Given the description of an element on the screen output the (x, y) to click on. 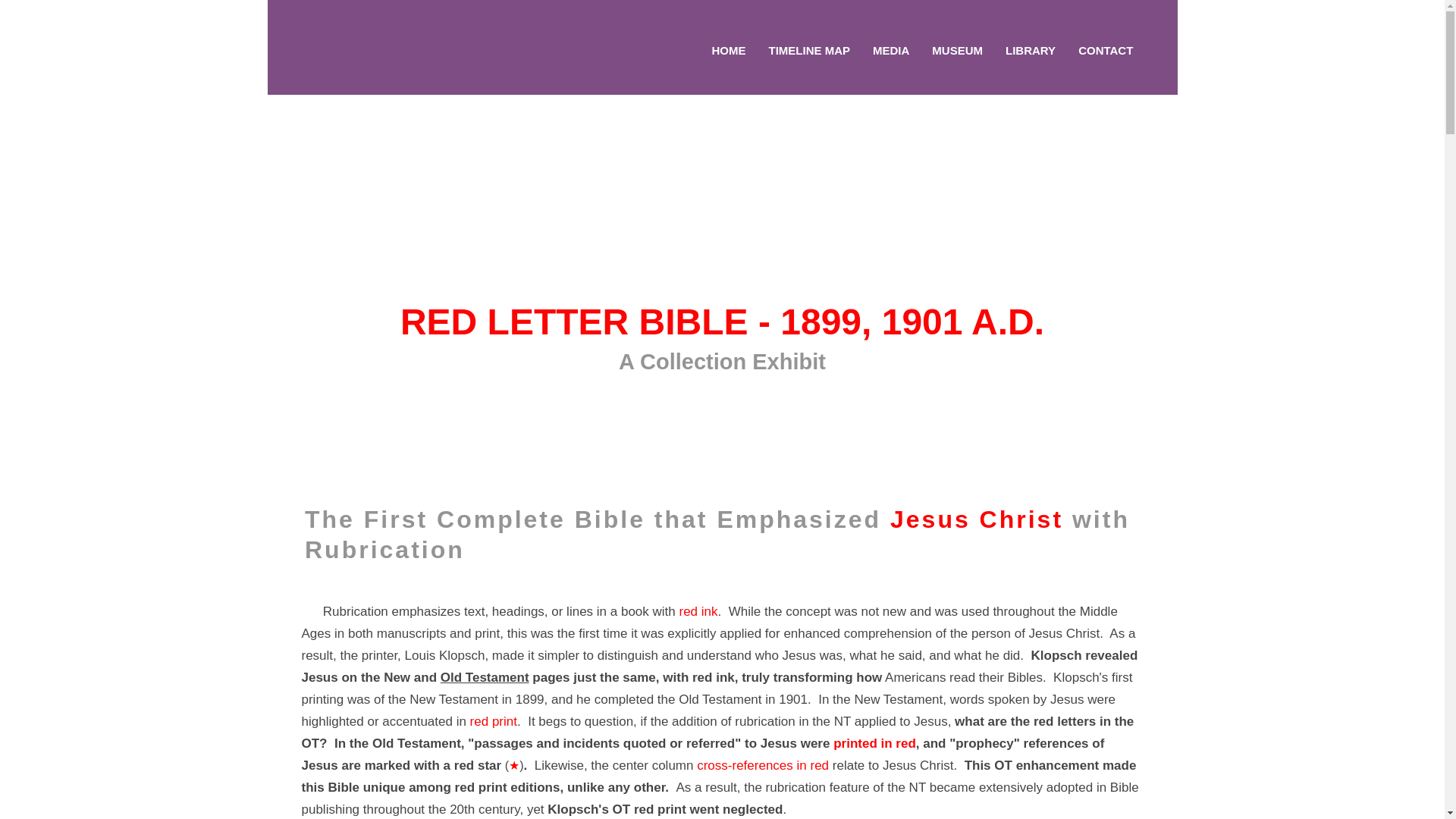
CONTACT (1105, 50)
MUSEUM (957, 50)
MEDIA (890, 50)
TIMELINE MAP (810, 50)
HOME (727, 50)
LIBRARY (1029, 50)
